Given the description of an element on the screen output the (x, y) to click on. 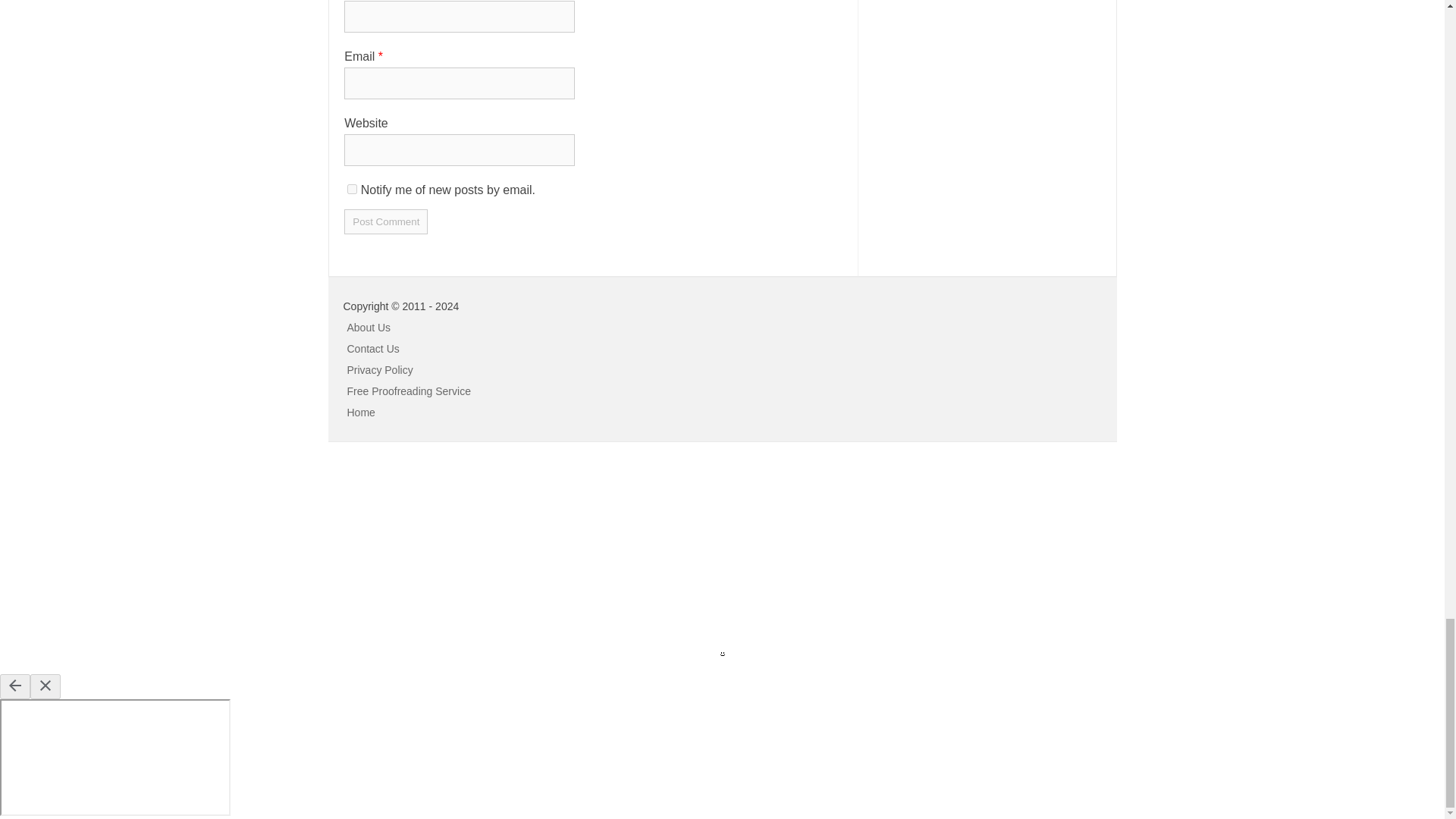
Contact Us (372, 348)
subscribe (351, 189)
Free Proofreading Service (408, 390)
Post Comment (385, 221)
Post Comment (385, 221)
Privacy Policy (380, 369)
Home (361, 412)
About Us (369, 327)
Advertisement (113, 555)
